Given the description of an element on the screen output the (x, y) to click on. 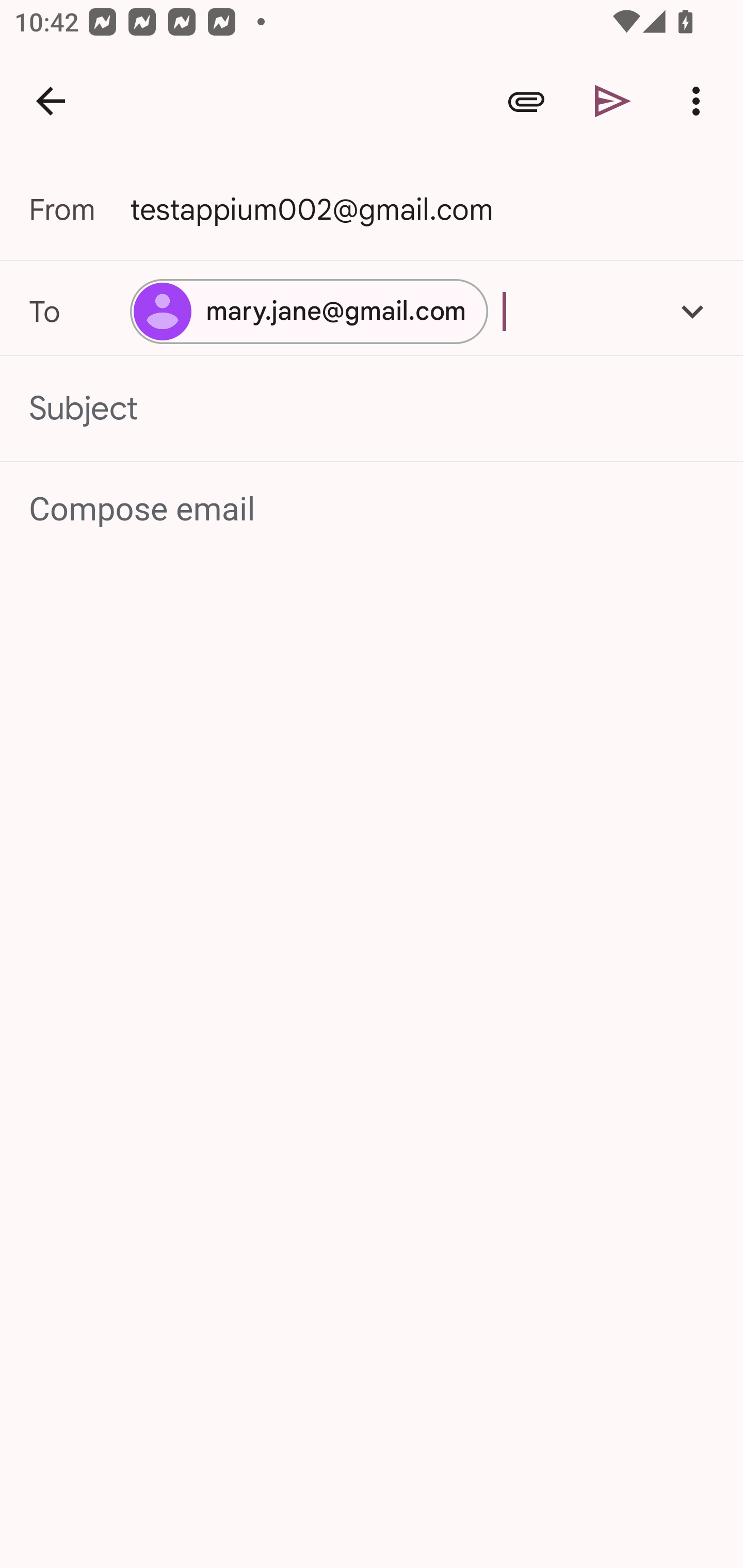
Navigate up (50, 101)
Attach file (525, 101)
Send (612, 101)
More options (699, 101)
From (79, 209)
Add Cc/Bcc (692, 311)
Subject (371, 407)
Compose email (372, 509)
